Given the description of an element on the screen output the (x, y) to click on. 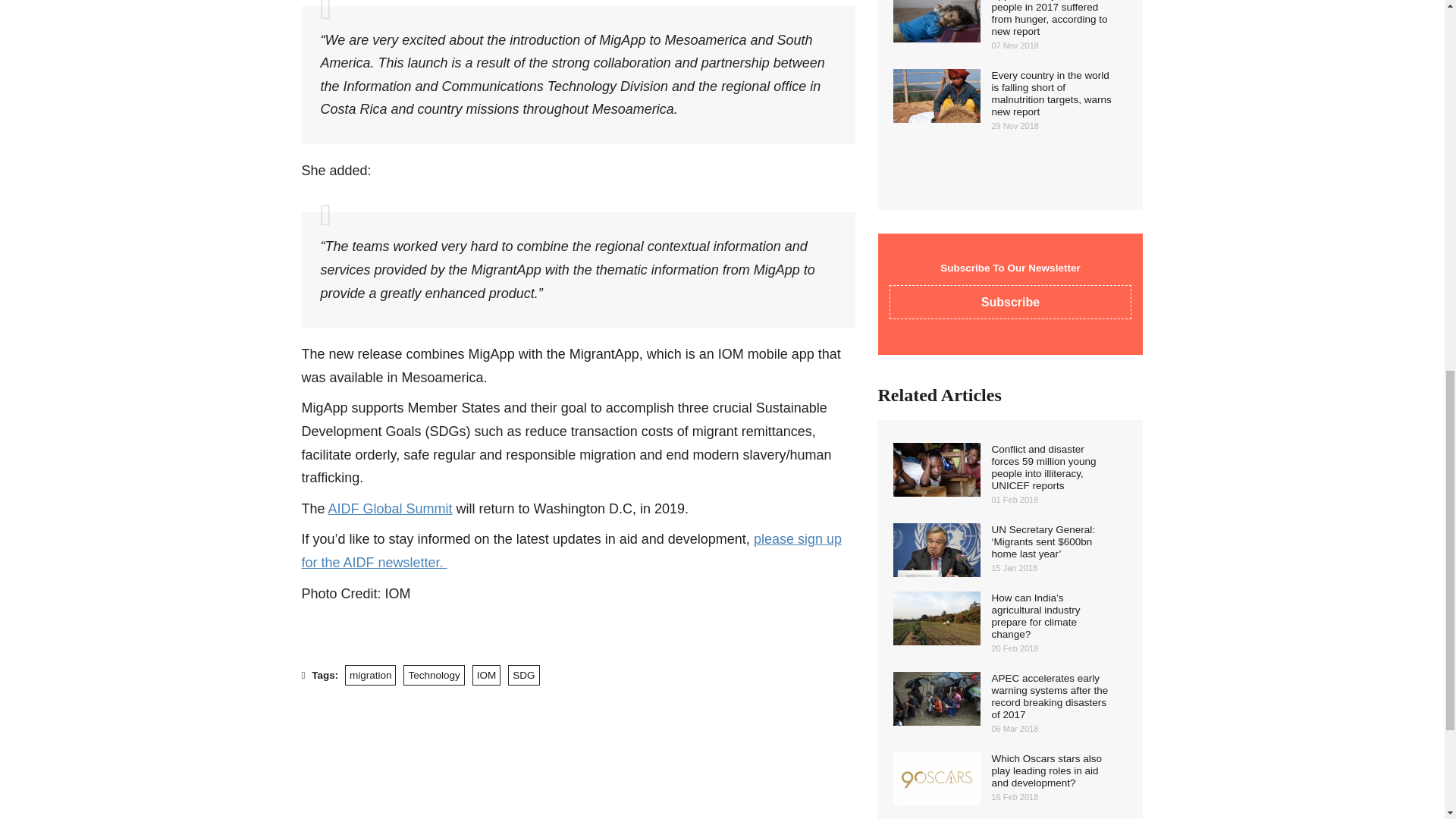
IOM (485, 675)
migration (370, 675)
Technology (433, 675)
